Given the description of an element on the screen output the (x, y) to click on. 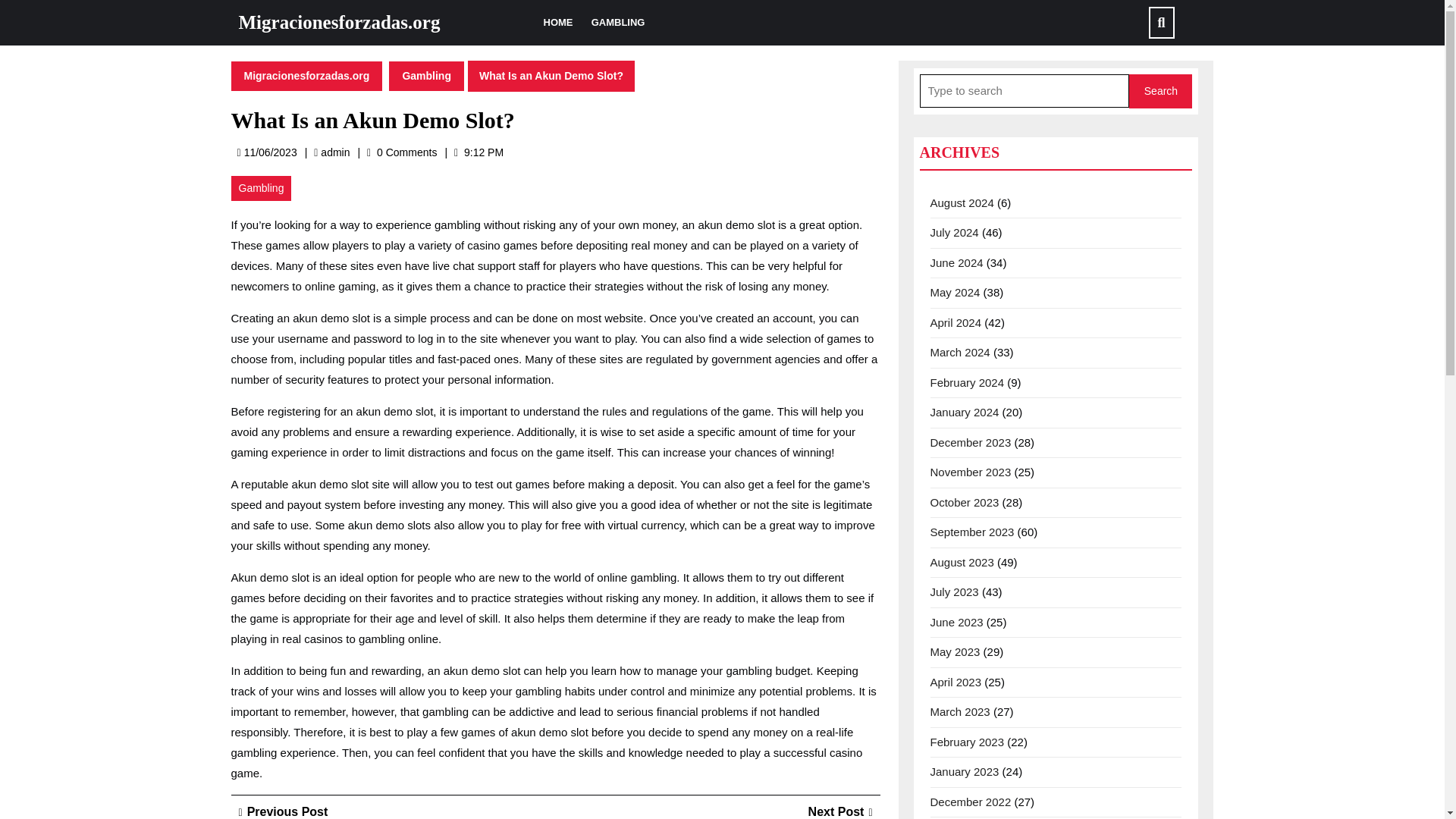
November 2023 (970, 472)
Migracionesforzadas.org (305, 75)
March 2024 (960, 351)
December 2023 (970, 440)
October 2023 (840, 811)
February 2024 (964, 502)
Gambling (967, 382)
June 2023 (334, 151)
July 2023 (426, 75)
Search (956, 621)
August 2024 (954, 591)
March 2023 (1160, 91)
GAMBLING (961, 201)
